Given the description of an element on the screen output the (x, y) to click on. 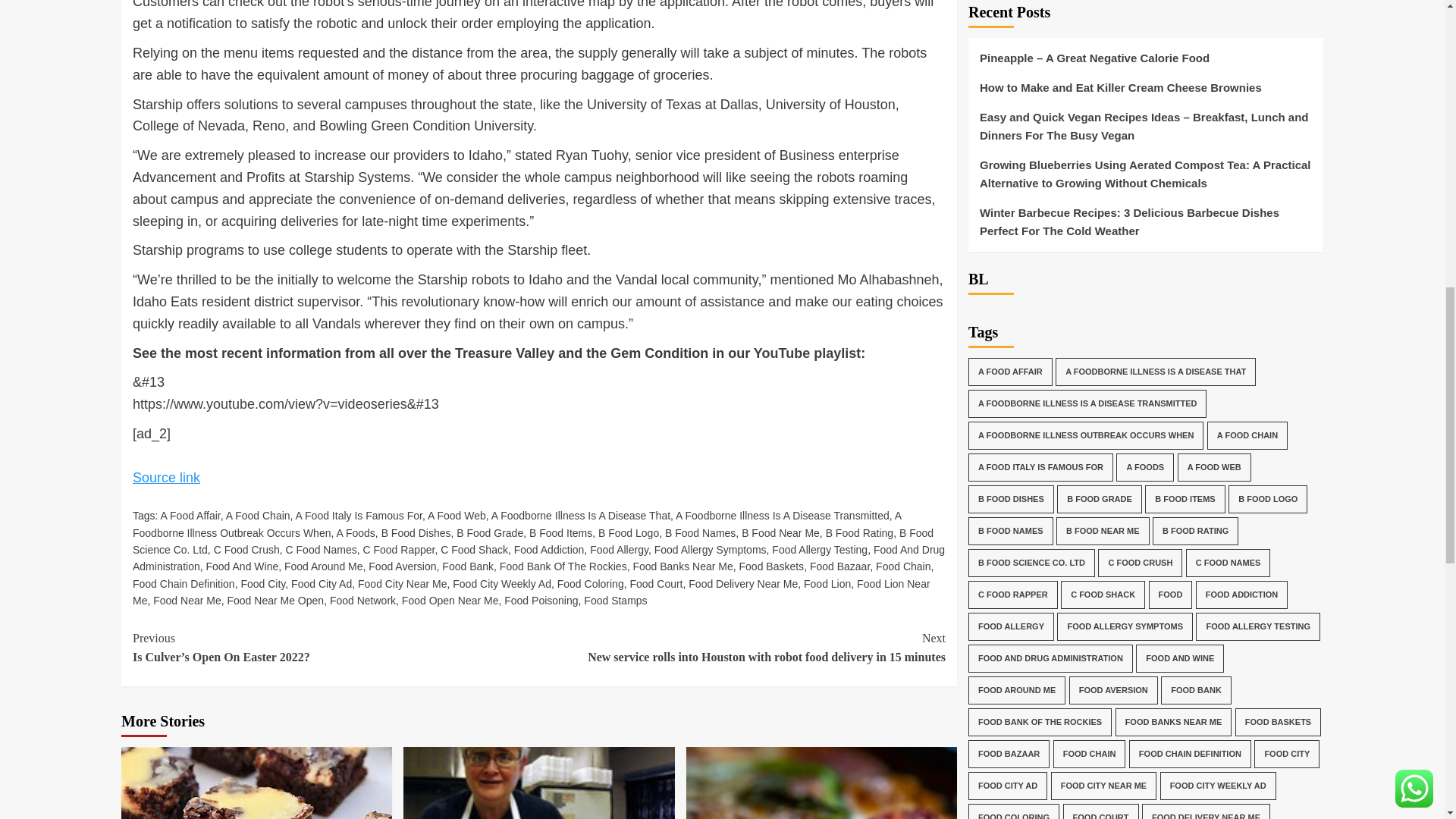
B Food Names (700, 532)
A Foodborne Illness Is A Disease Transmitted (782, 515)
B Food Grade (489, 532)
B Food Rating (859, 532)
Cooking With Chocolate (820, 782)
B Food Logo (628, 532)
A Food Web (457, 515)
A Foodborne Illness Outbreak Occurs When (516, 523)
A Food Italy Is Famous For (358, 515)
How to Make and Eat Killer Cream Cheese Brownies (255, 782)
A Foods (355, 532)
B Food Science Co. Ltd (532, 541)
B Food Items (560, 532)
A Food Chain (257, 515)
B Food Dishes (416, 532)
